Given the description of an element on the screen output the (x, y) to click on. 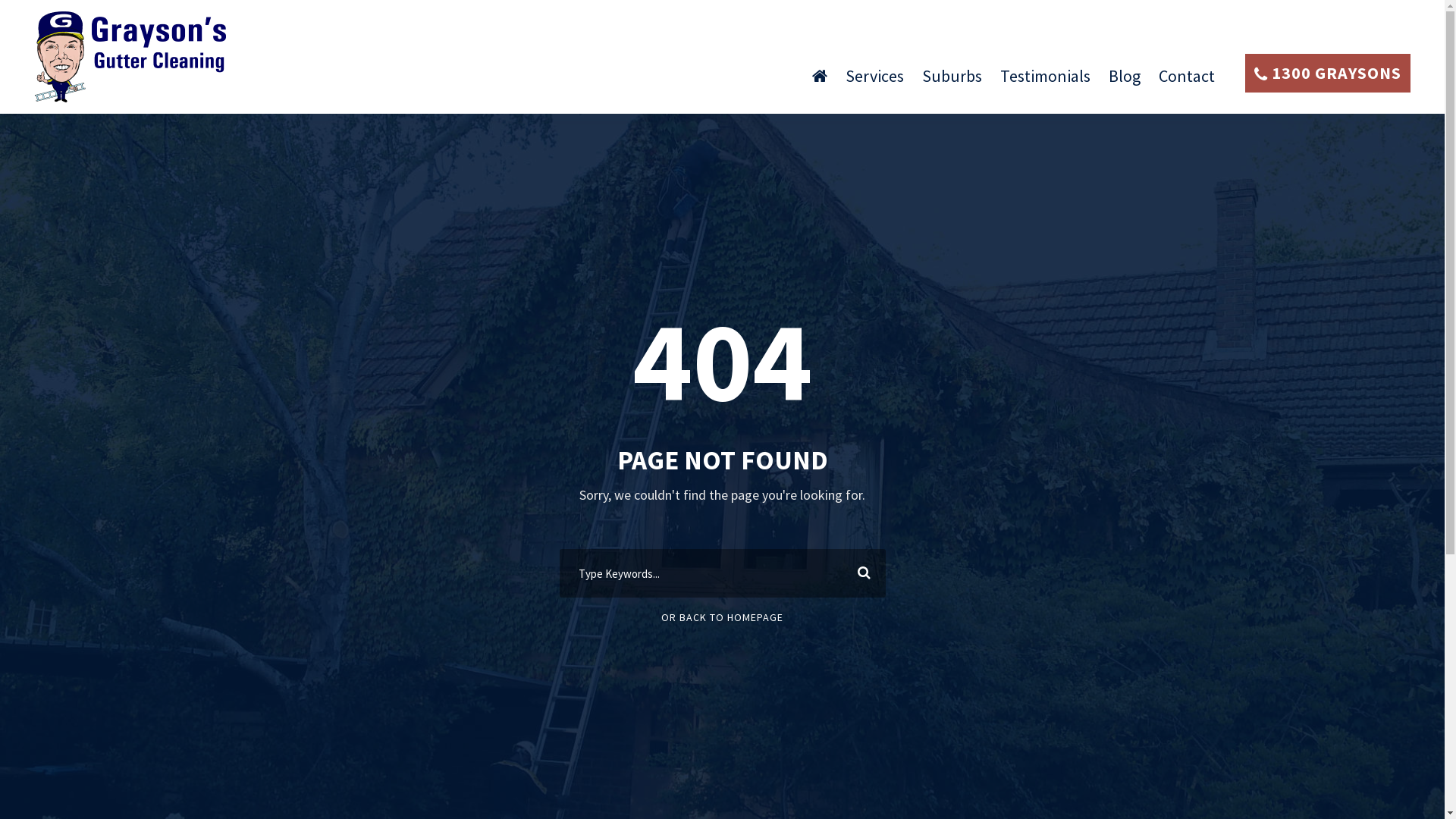
Suburbs Element type: text (952, 82)
Contact Element type: text (1186, 82)
Blog Element type: text (1124, 82)
Home Element type: hover (819, 82)
1300 GRAYSONS Element type: text (1327, 72)
Services Element type: text (874, 82)
OR BACK TO HOMEPAGE Element type: text (722, 617)
Search Element type: text (860, 573)
Testimonials Element type: text (1045, 82)
